Given the description of an element on the screen output the (x, y) to click on. 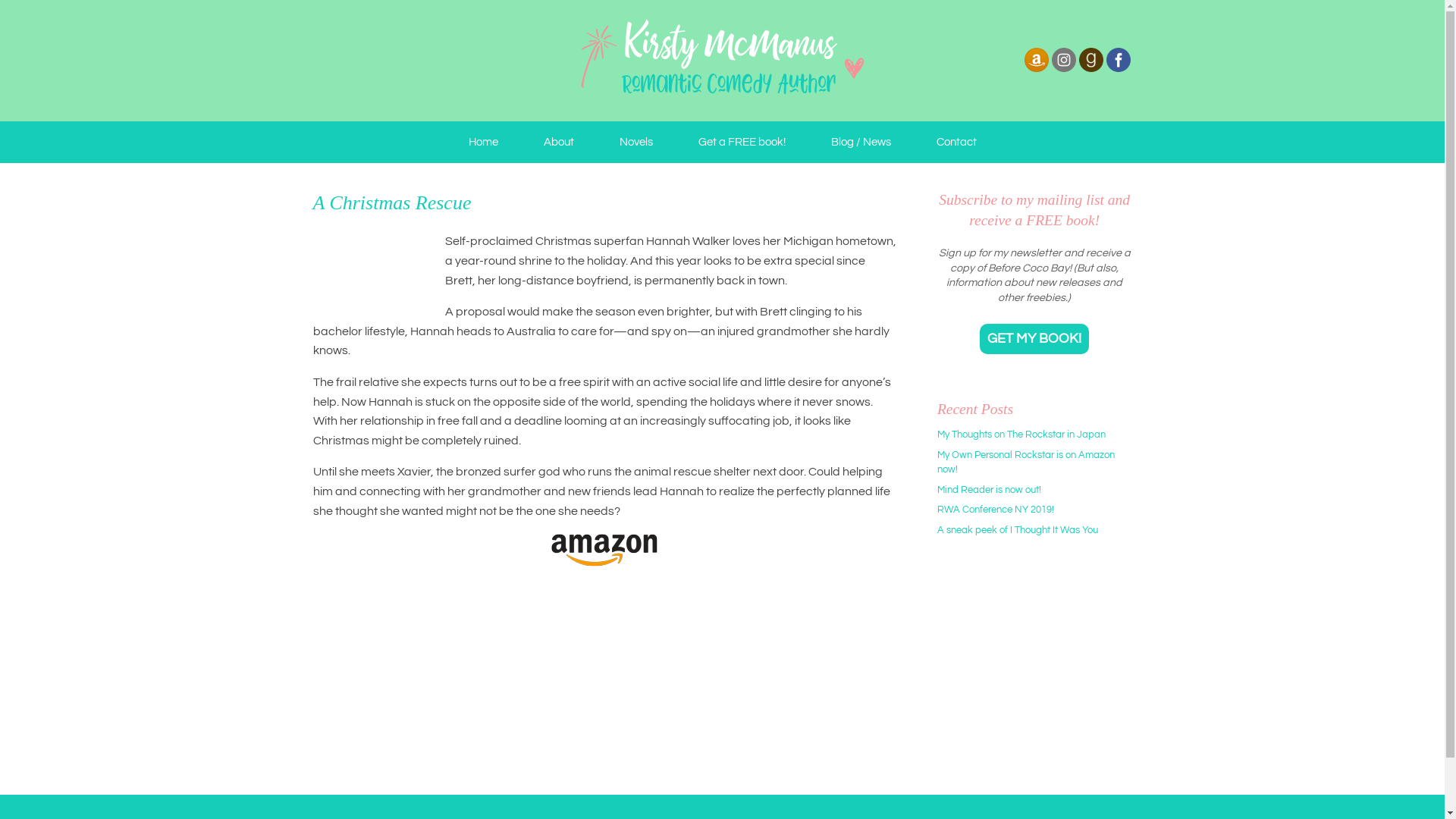
Instagram Element type: hover (1063, 59)
Advertisement Element type: hover (1031, 667)
Goodreads Element type: hover (1090, 70)
Amazon Element type: hover (1035, 70)
Facebook Element type: hover (1117, 70)
A sneak peek of I Thought It Was You Element type: text (1017, 529)
Kirsty McManus Element type: hover (721, 60)
Goodreads Element type: hover (1090, 59)
RWA Conference NY 2019! Element type: text (995, 509)
Blog / News Element type: text (860, 142)
My Thoughts on The Rockstar in Japan Element type: text (1021, 434)
Get a FREE book! Element type: text (740, 142)
Instagram Element type: hover (1062, 70)
Contact Element type: text (955, 142)
My Own Personal Rockstar is on Amazon now! Element type: text (1025, 462)
GET MY BOOK! Element type: text (1033, 338)
Novels Element type: text (635, 142)
Mind Reader is now out! Element type: text (989, 489)
Home Element type: text (482, 142)
About Element type: text (558, 142)
Facebook Element type: hover (1117, 59)
Amazon Element type: hover (1035, 59)
